Given the description of an element on the screen output the (x, y) to click on. 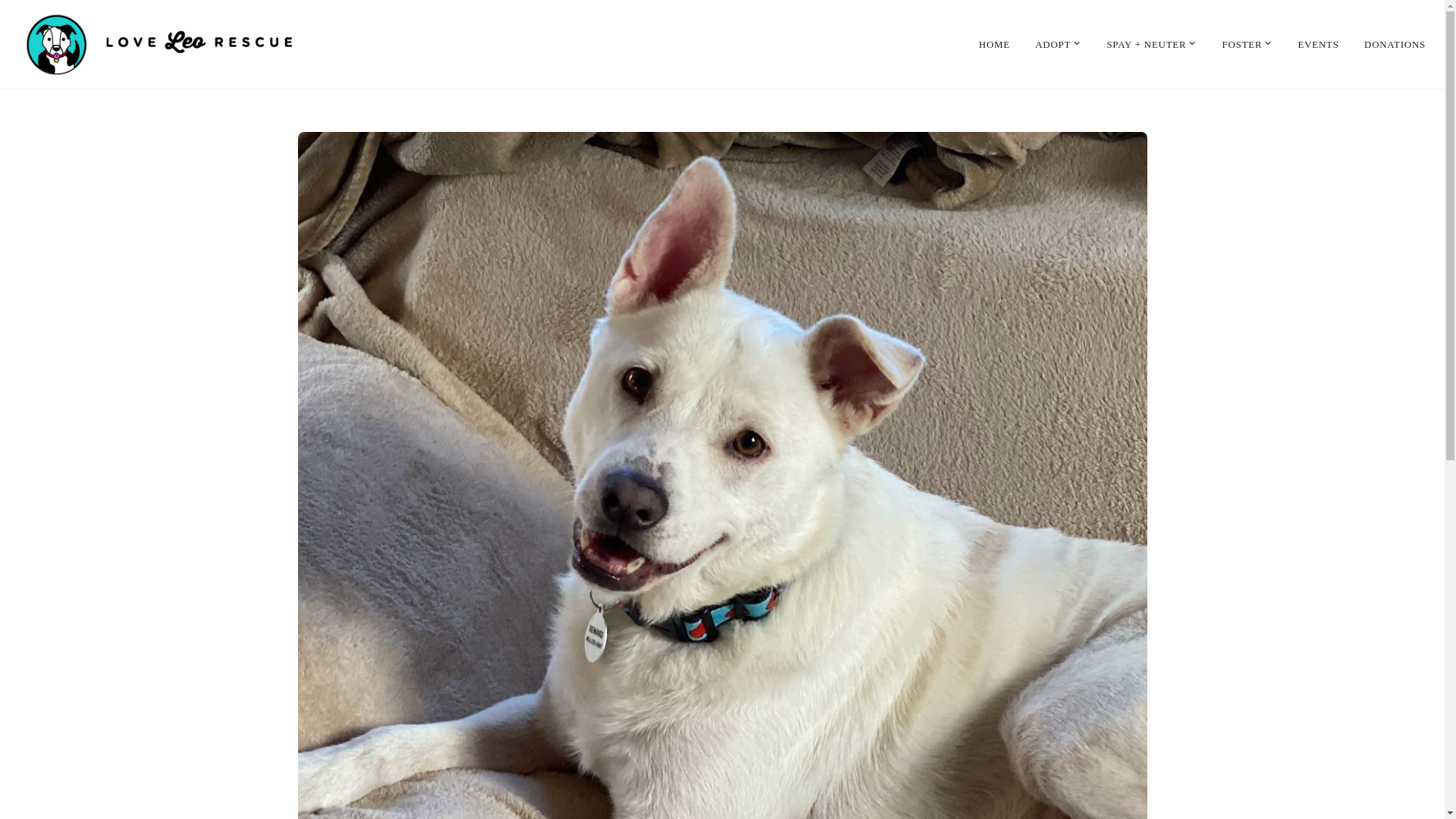
FOSTER (1247, 45)
DONATIONS (1394, 45)
ADOPT (1058, 45)
HOME (994, 45)
EVENTS (1318, 45)
LOVE LEO (89, 93)
